Given the description of an element on the screen output the (x, y) to click on. 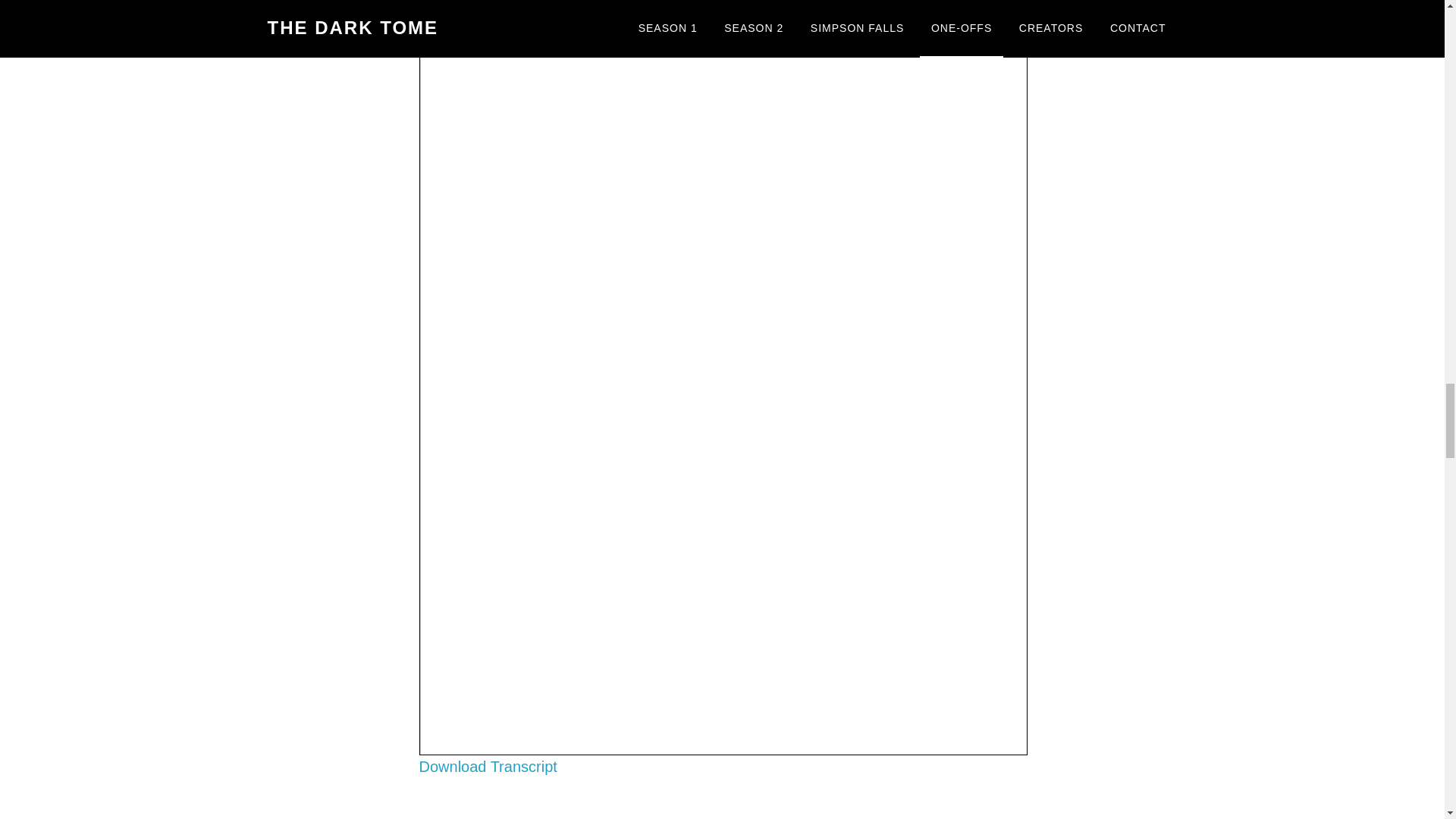
Download Transcript (487, 766)
